Given the description of an element on the screen output the (x, y) to click on. 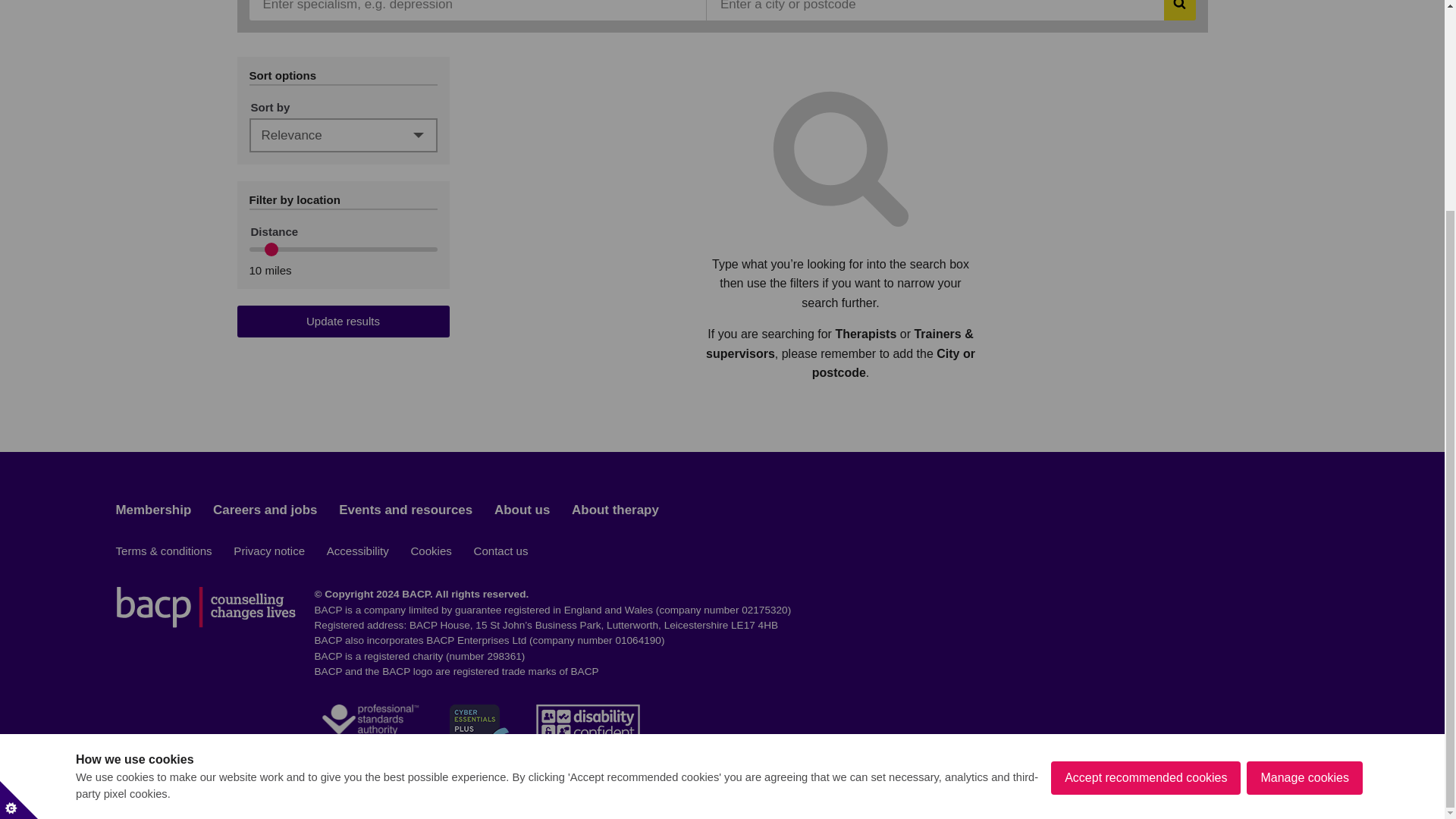
10 (342, 249)
